Given the description of an element on the screen output the (x, y) to click on. 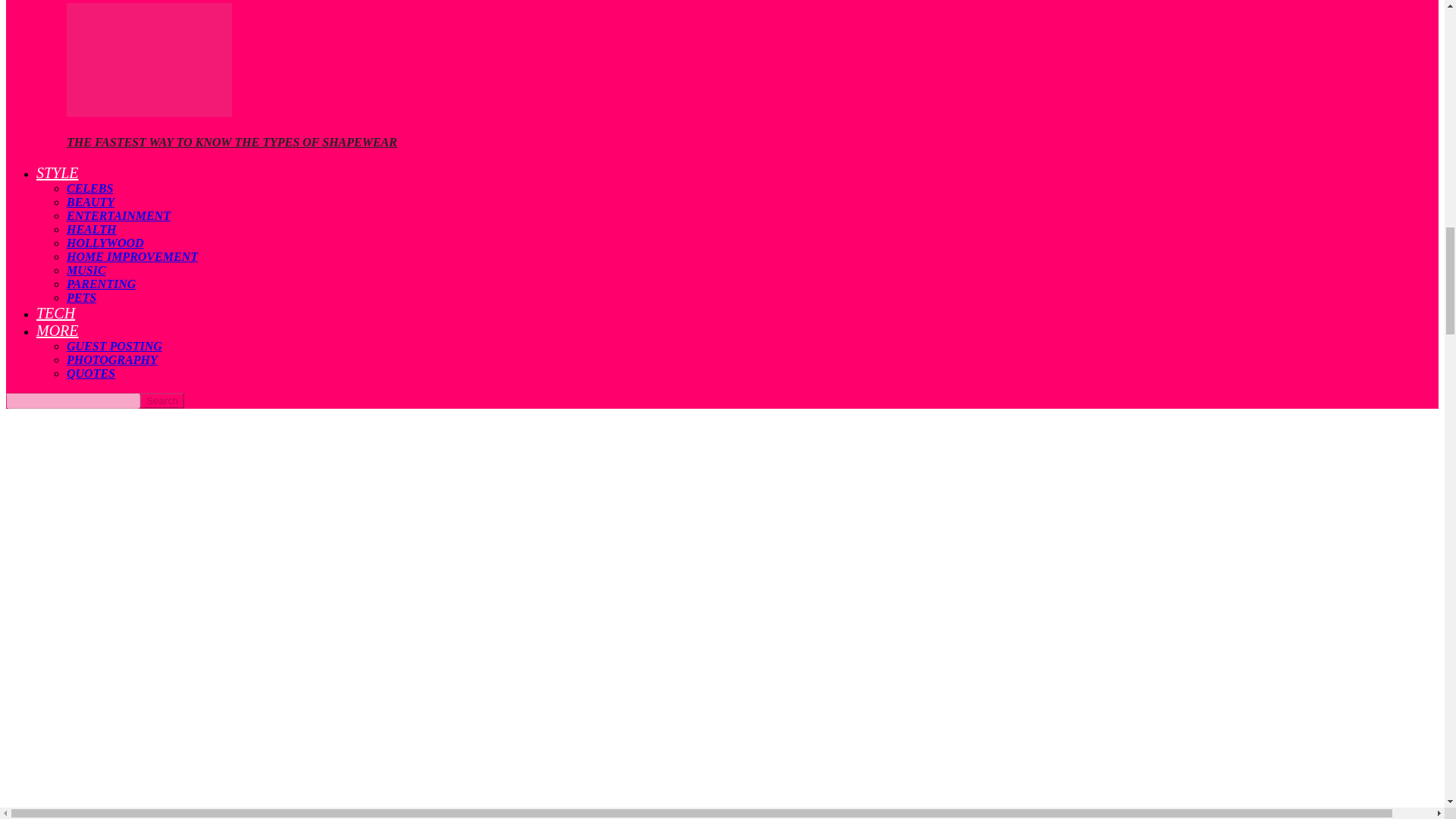
Search (161, 400)
